Given the description of an element on the screen output the (x, y) to click on. 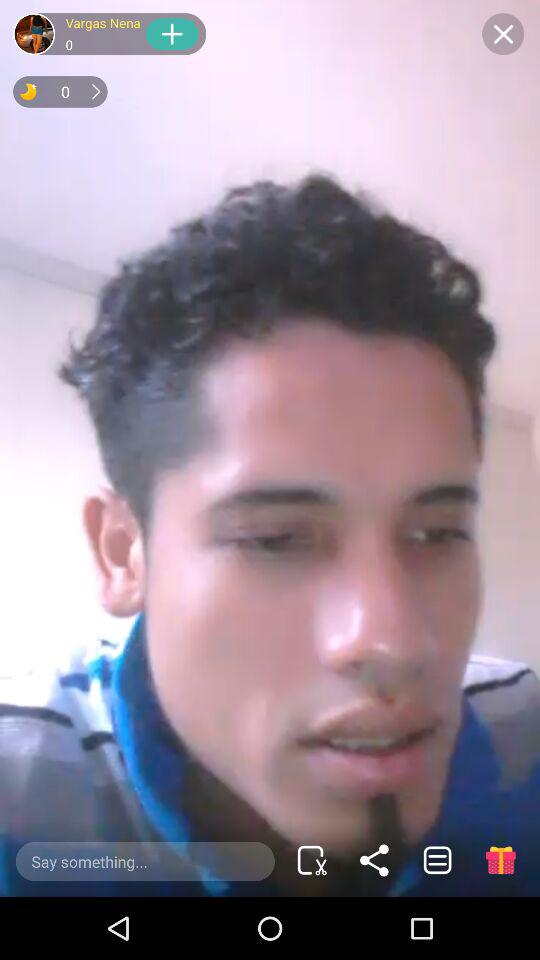
the close button at top right corner of the page (502, 33)
go to half moon yellow color icon on top left of page (28, 91)
click on the text left to the green color plus symbol at top left (102, 33)
click on left to the scissors (145, 861)
select the share icon (374, 860)
click the cropping icon (311, 860)
